Given the description of an element on the screen output the (x, y) to click on. 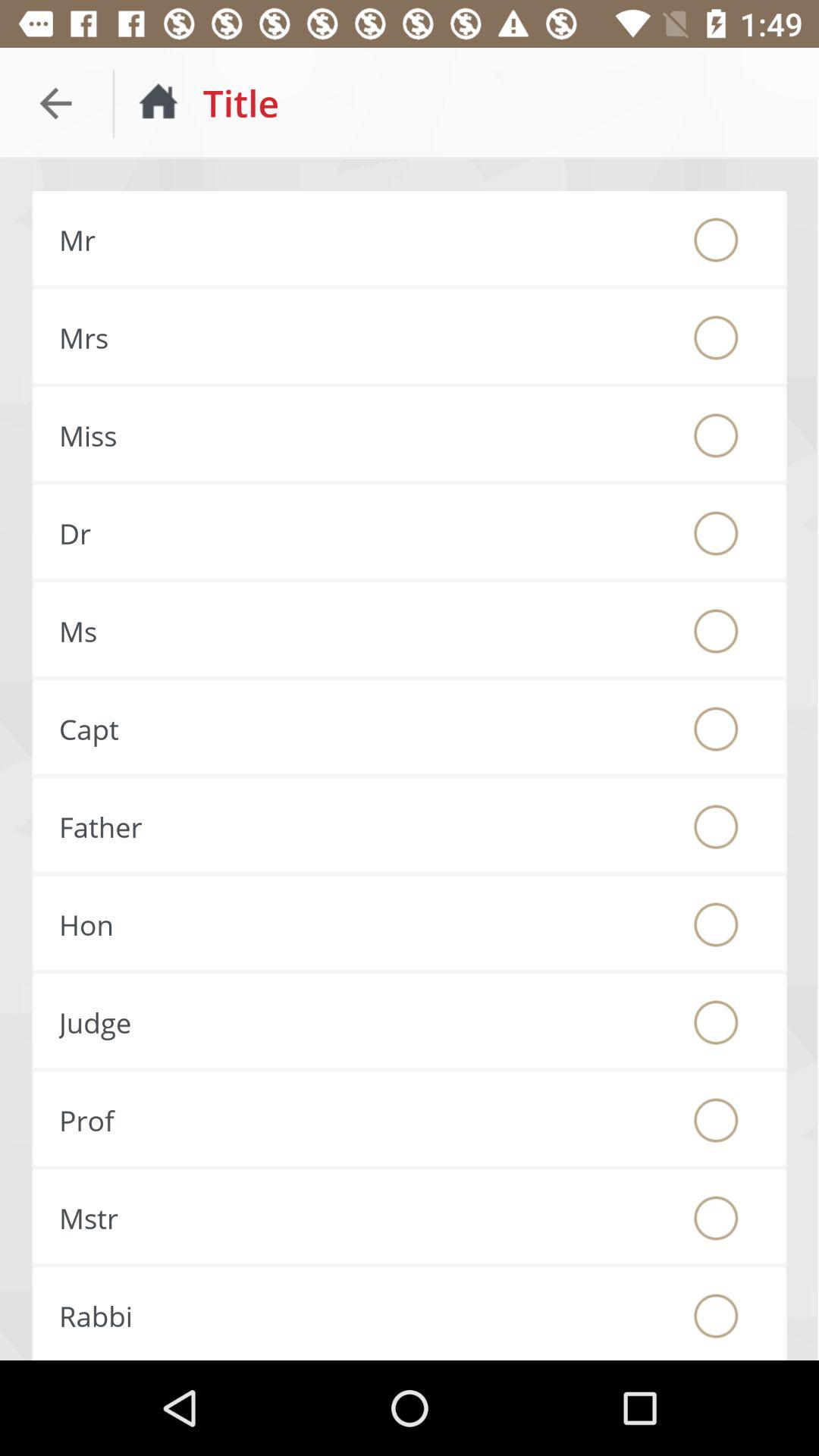
radio selection (715, 239)
